Given the description of an element on the screen output the (x, y) to click on. 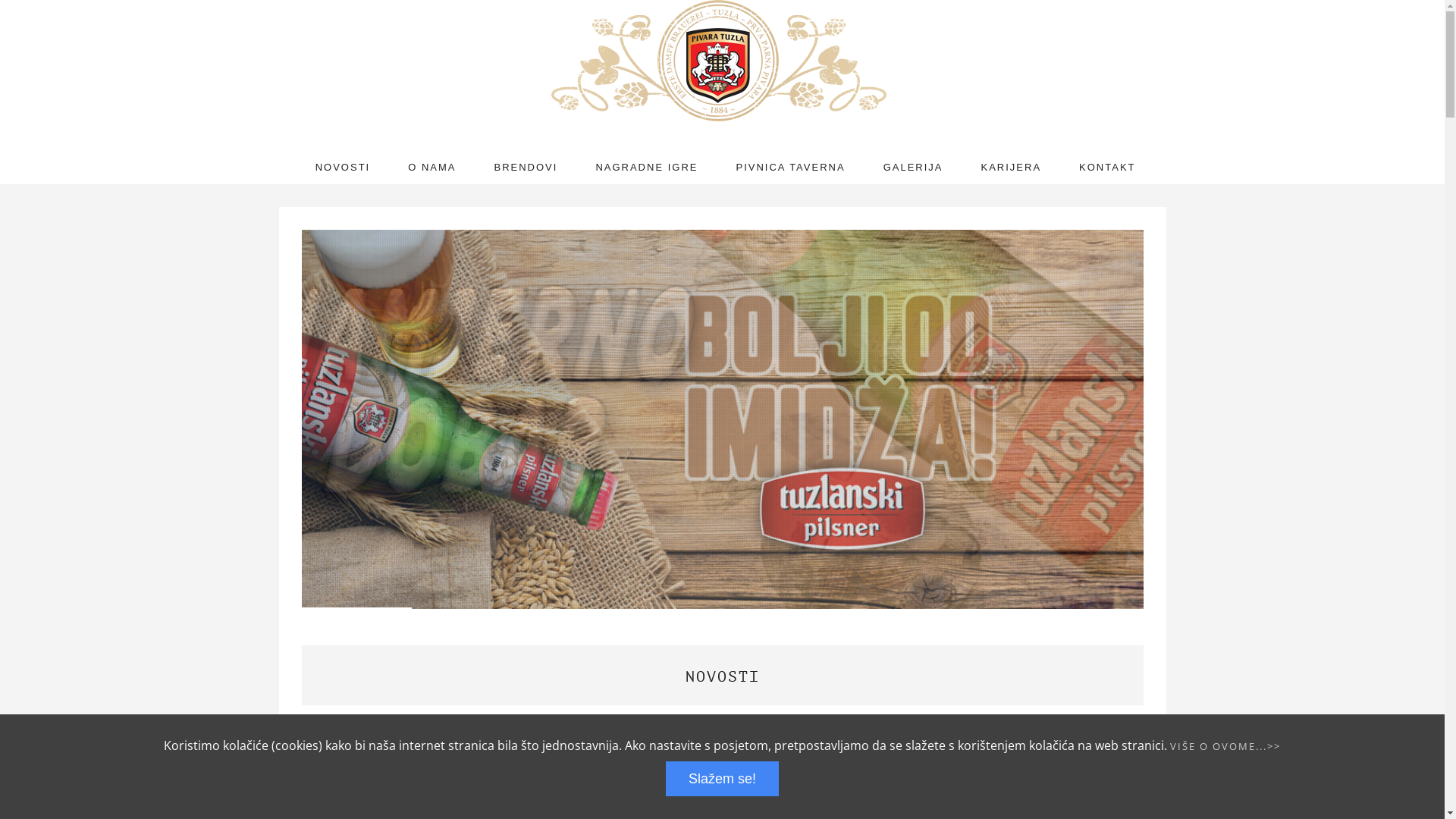
PIVNICA TAVERNA Element type: text (789, 167)
O NAMA Element type: text (431, 167)
Pivara Tuzla Element type: hover (722, 60)
KARIJERA Element type: text (1010, 167)
NAGRADNE IGRE Element type: text (646, 167)
GALERIJA Element type: text (913, 167)
BRENDOVI Element type: text (525, 167)
NOVOSTI Element type: text (342, 167)
KONTAKT Element type: text (1107, 167)
